Given the description of an element on the screen output the (x, y) to click on. 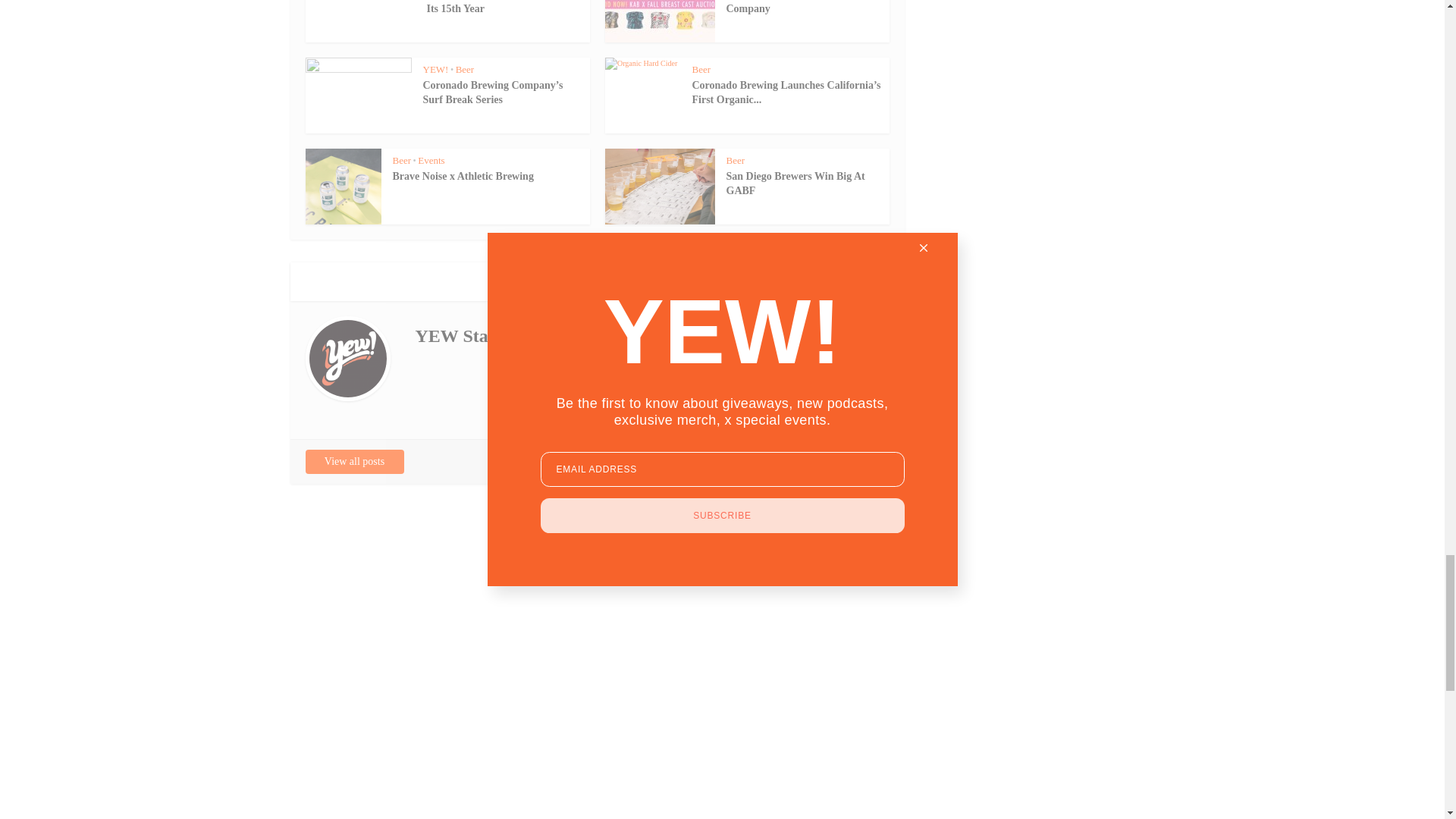
Keep A Breast x Fall Brewing Company (793, 7)
San Diego Beer Week Is Back For Its 15th Year (502, 7)
Brave Noise x Athletic Brewing (463, 175)
San Diego Brewers Win Big At GABF (795, 183)
